Given the description of an element on the screen output the (x, y) to click on. 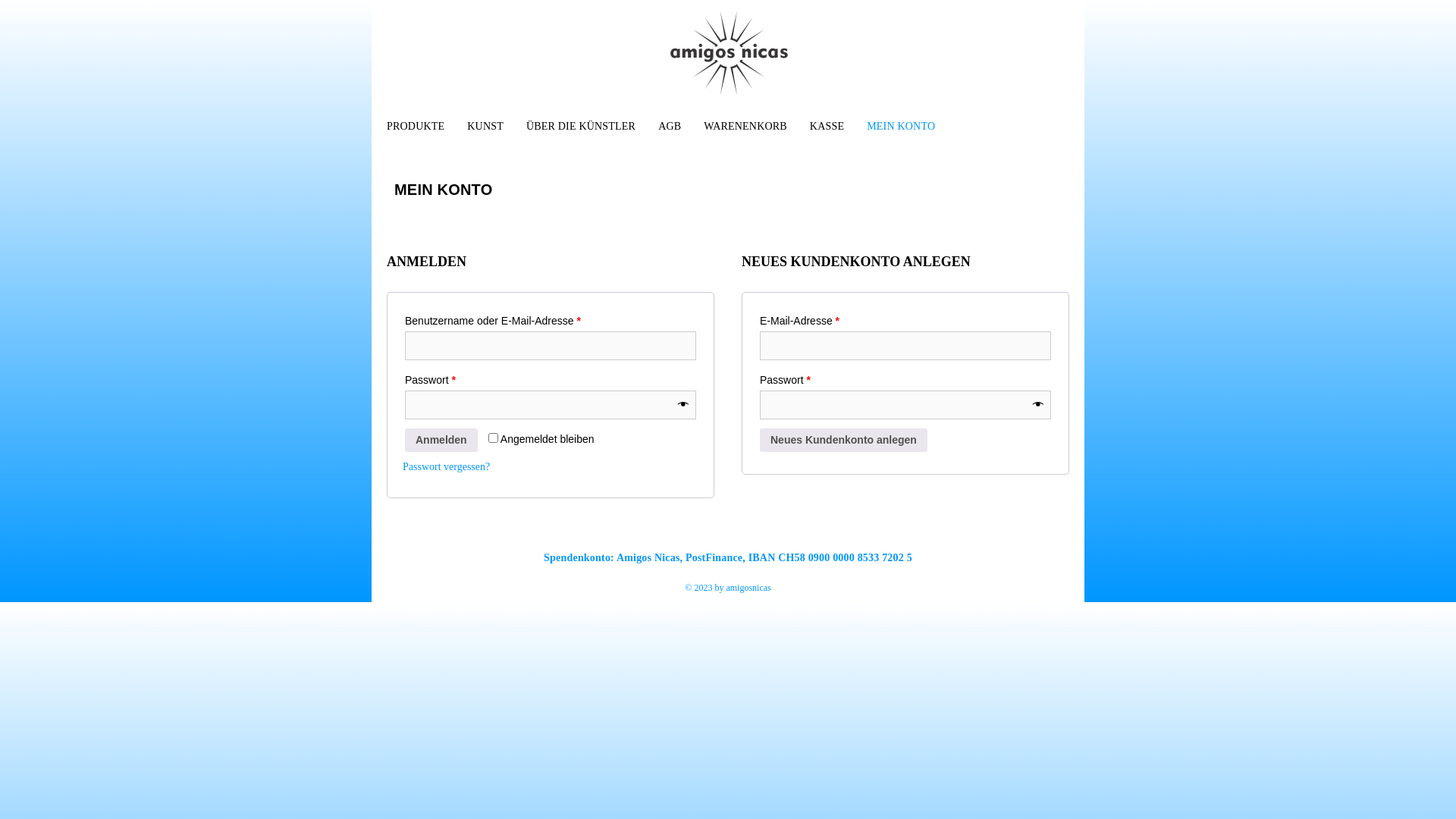
AGB Element type: text (665, 125)
Neues Kundenkonto anlegen Element type: text (843, 439)
PRODUKTE Element type: text (411, 125)
KUNST Element type: text (481, 125)
Anmelden Element type: text (440, 439)
WARENENKORB Element type: text (741, 125)
KASSE Element type: text (822, 125)
MEIN KONTO Element type: text (896, 125)
Passwort vergessen? Element type: text (445, 466)
